Given the description of an element on the screen output the (x, y) to click on. 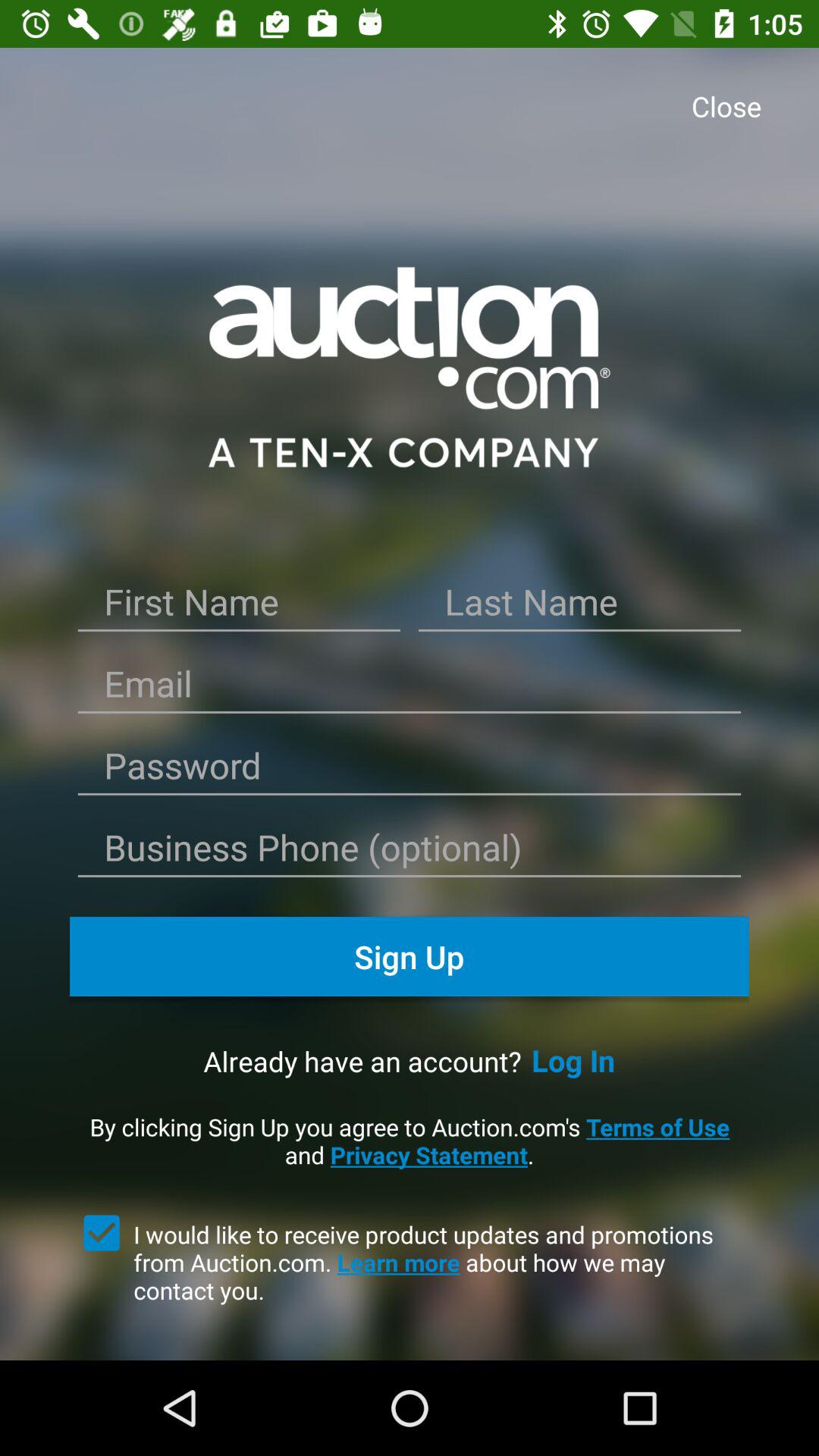
email input (409, 689)
